Given the description of an element on the screen output the (x, y) to click on. 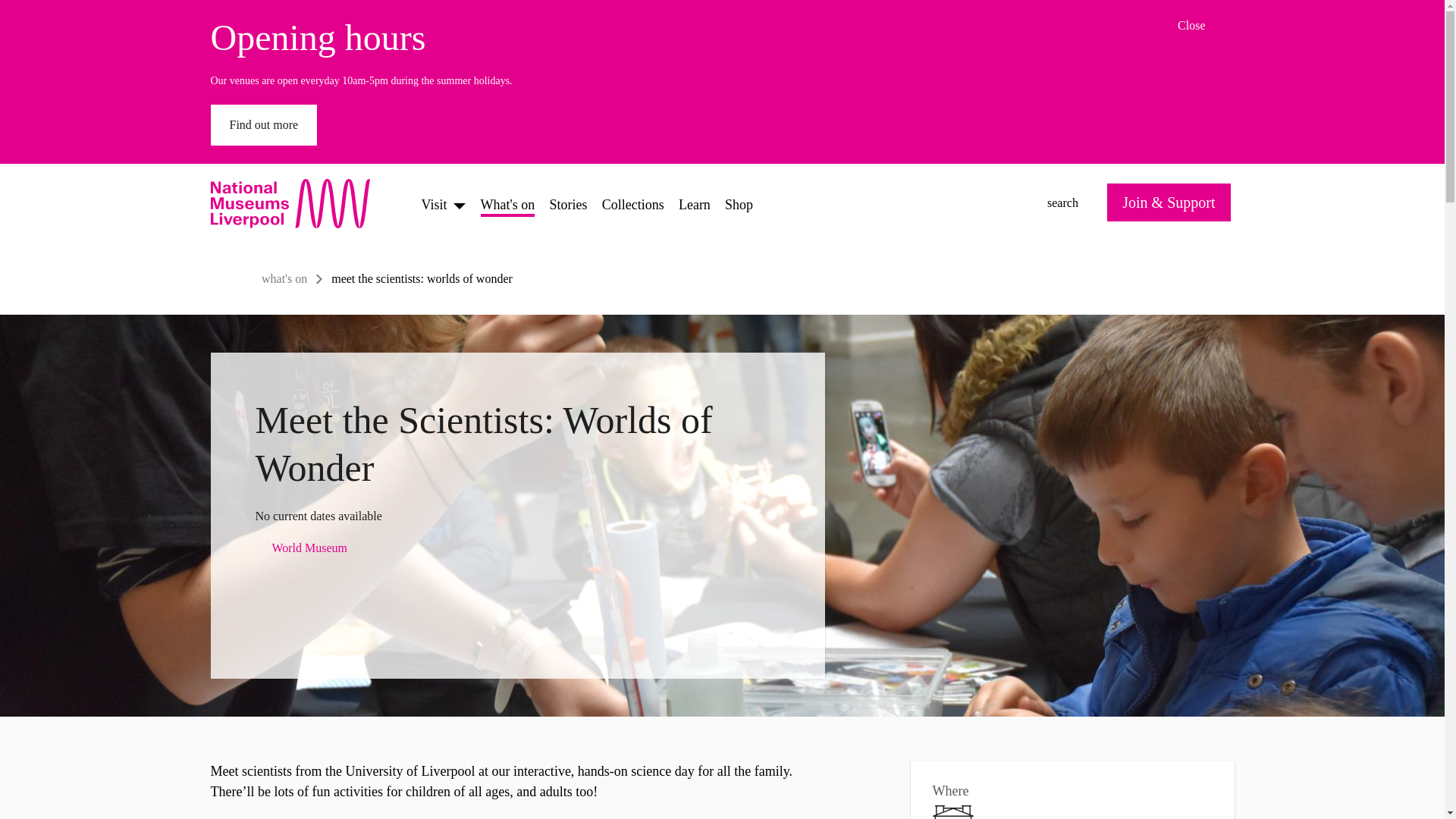
Shop (738, 203)
World Museum (517, 548)
National Museums Liverpool (1047, 203)
Collections (298, 203)
Learn (1205, 25)
Stories (632, 203)
What's on (694, 203)
what's on (569, 203)
